Given the description of an element on the screen output the (x, y) to click on. 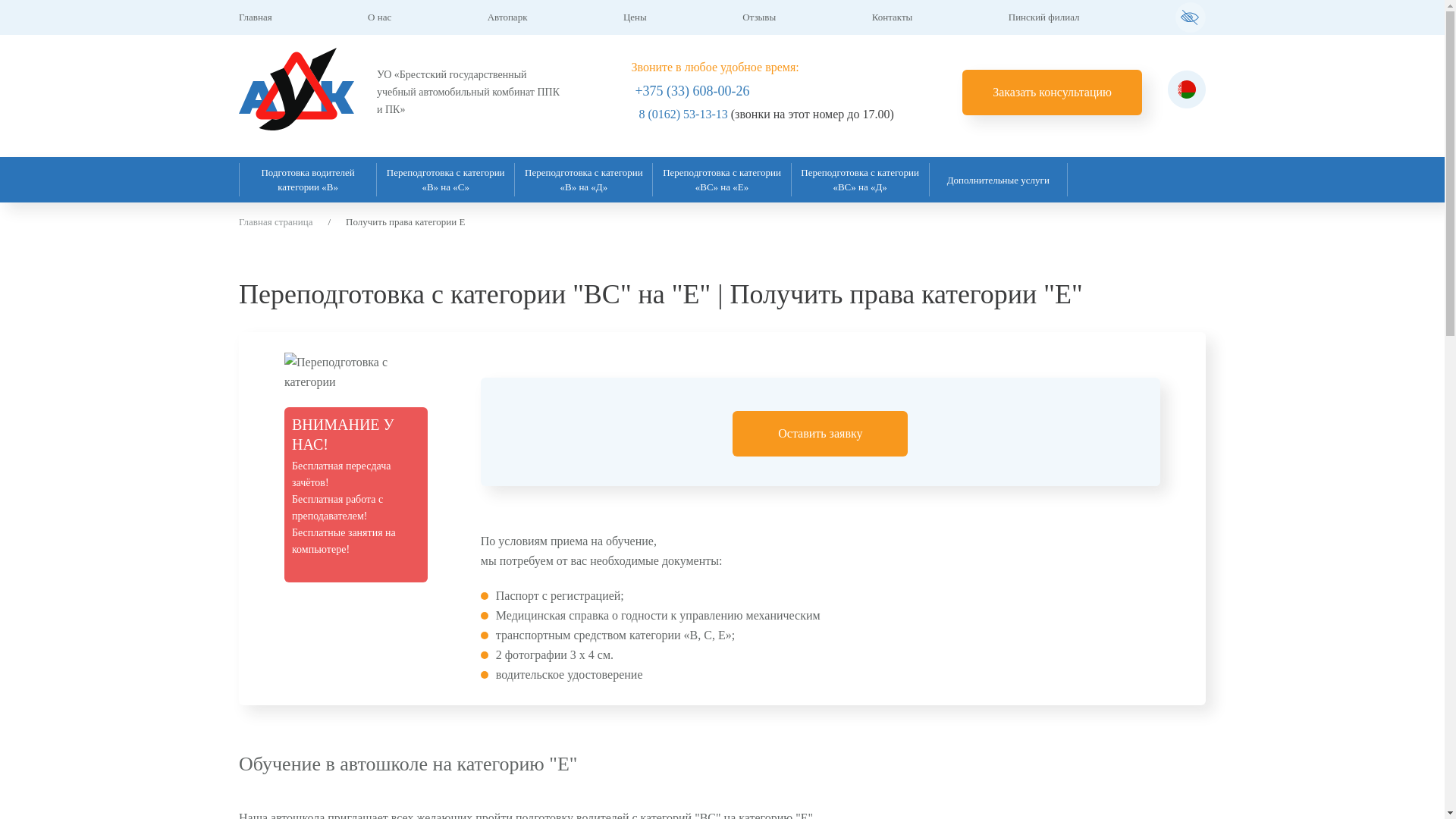
8 (0162) 53-13-13 Element type: text (682, 113)
+375 (33) 608-00-26 Element type: text (691, 90)
